Given the description of an element on the screen output the (x, y) to click on. 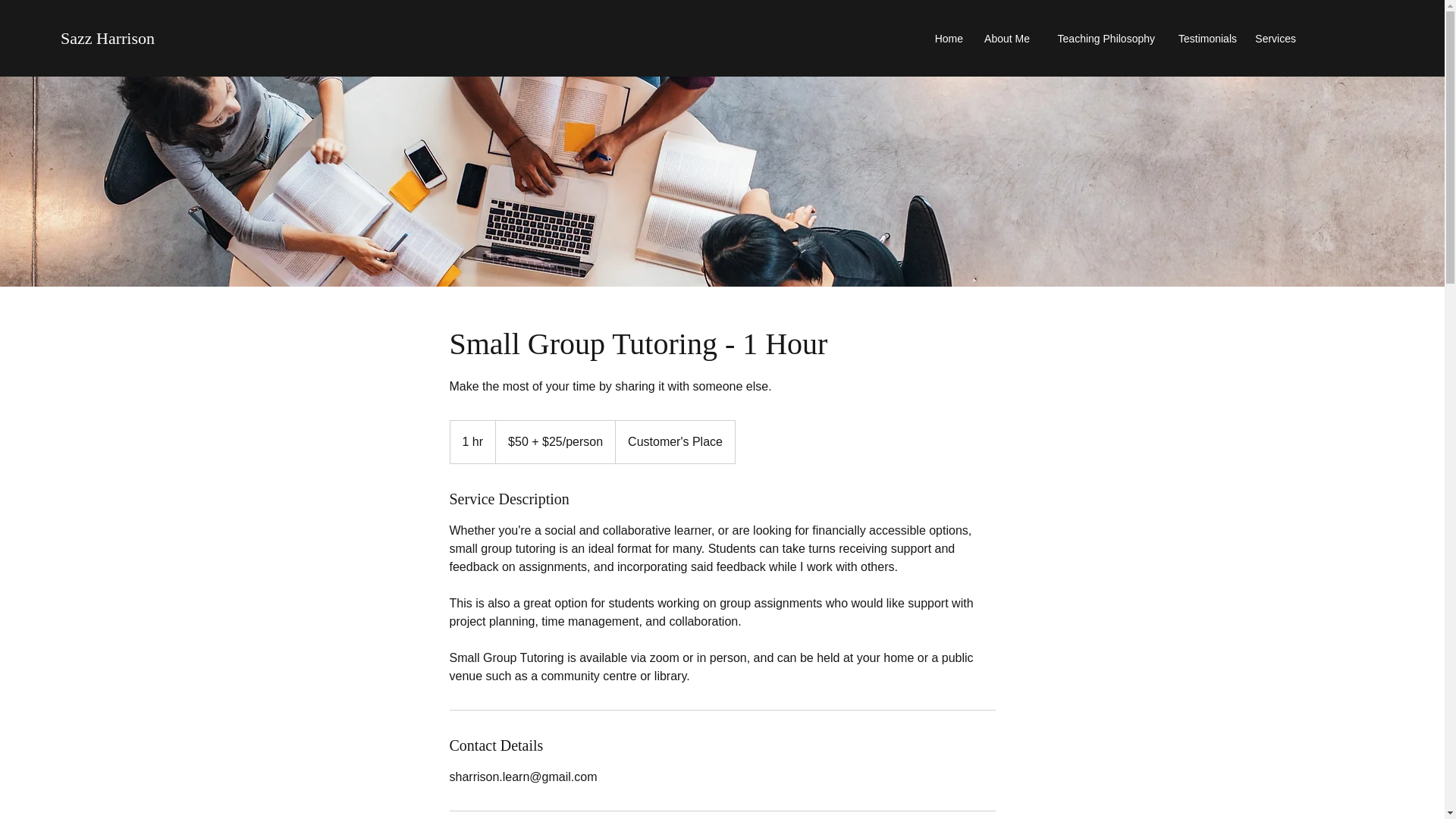
Sazz Harrison (107, 37)
Testimonials (1202, 38)
About Me (1003, 38)
Home (947, 38)
Teaching Philosophy (1098, 38)
Services (1273, 38)
